Given the description of an element on the screen output the (x, y) to click on. 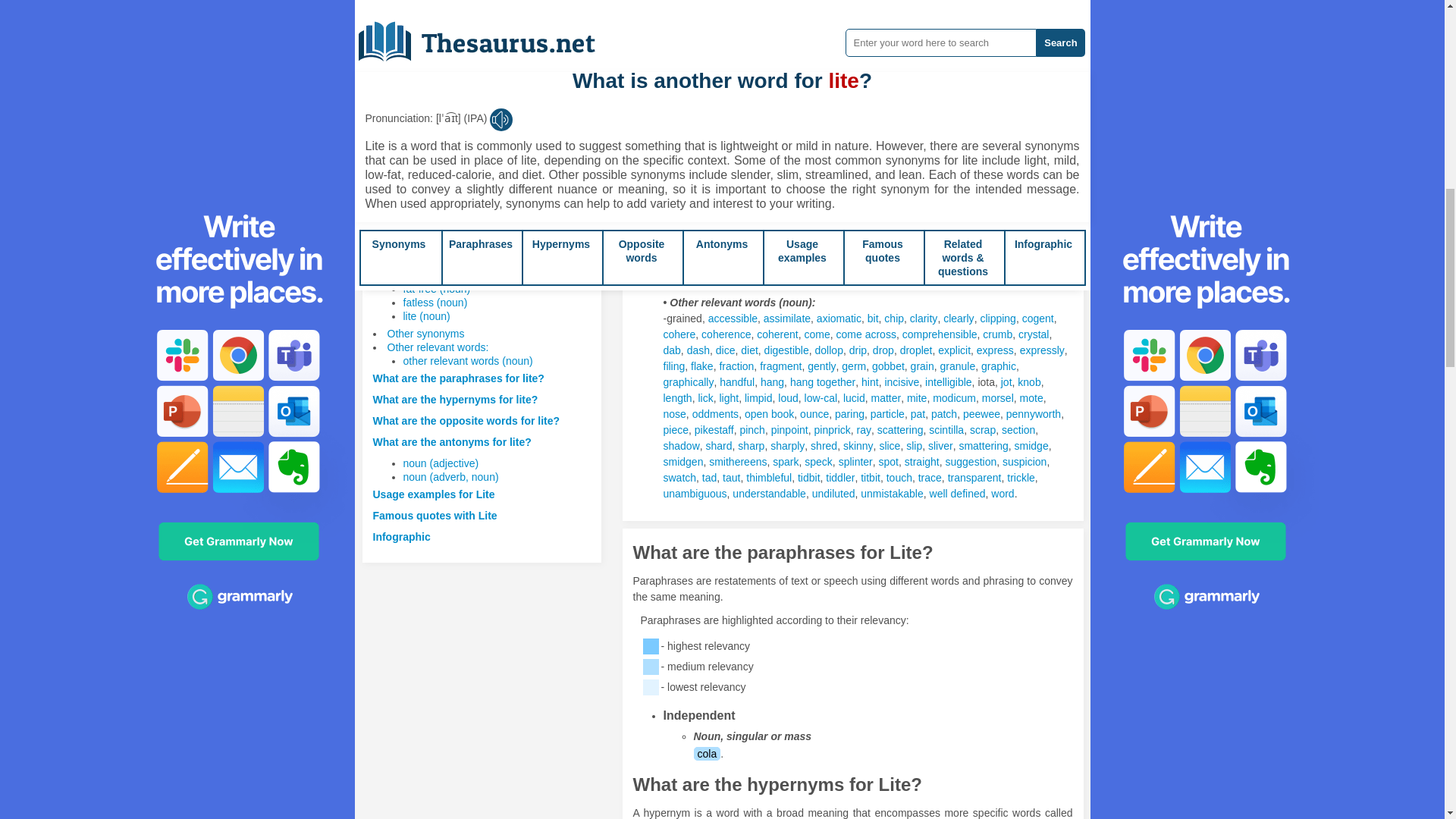
Synonyms for Lite (827, 173)
Synonyms for Lite (855, 223)
fatless (677, 74)
Synonyms for Lite (963, 173)
Synonyms for Lite (885, 223)
nonfat (677, 121)
Infographic (401, 536)
fat-free (678, 28)
Famous quotes with Lite (434, 515)
Usage examples for Lite (433, 494)
